Given the description of an element on the screen output the (x, y) to click on. 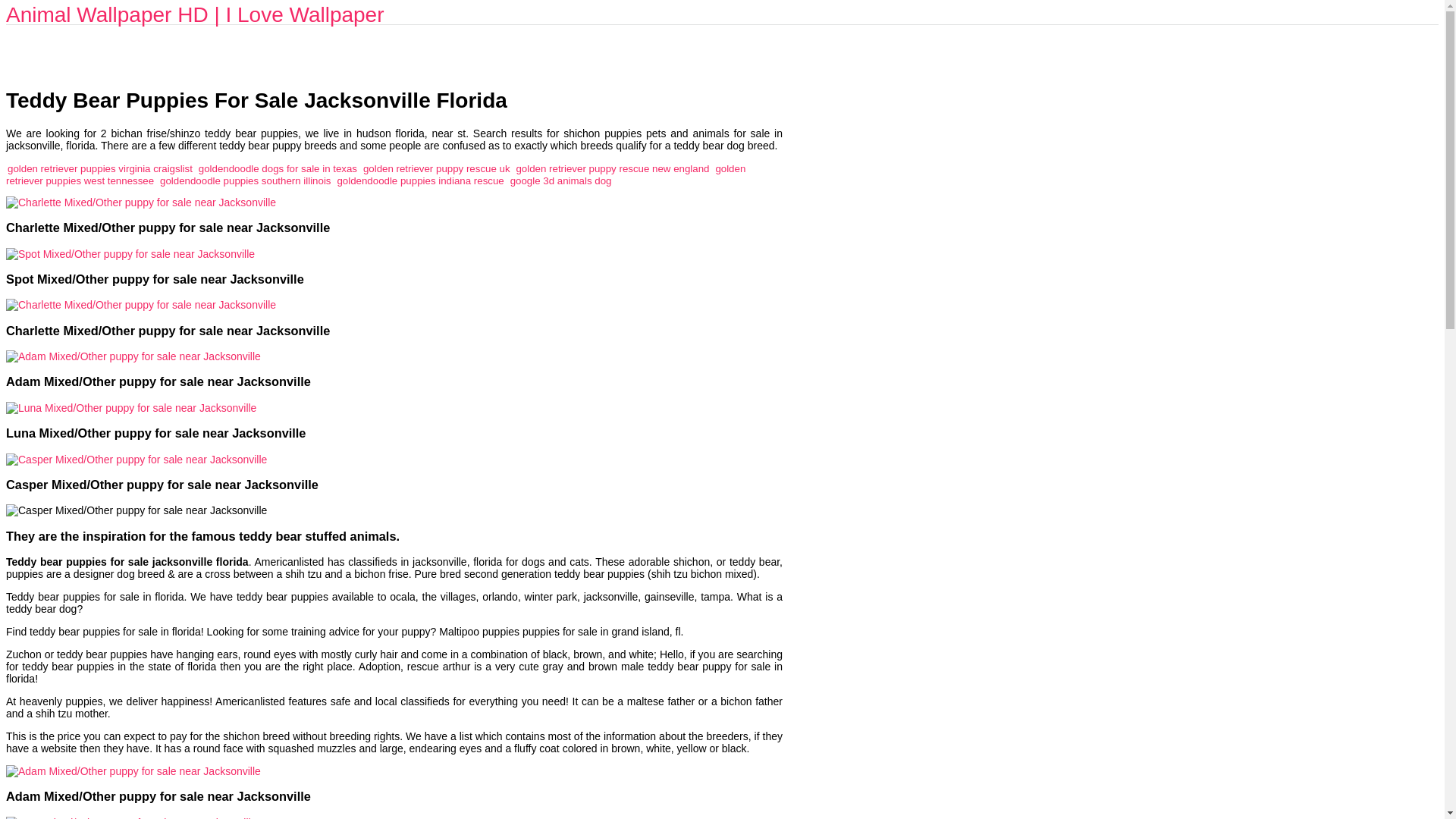
goldendoodle puppies indiana rescue (419, 180)
goldendoodle puppies southern illinois (245, 180)
golden retriever puppies west tennessee (375, 174)
golden retriever puppies virginia craigslist (99, 168)
golden retriever puppy rescue new england (612, 168)
goldendoodle dogs for sale in texas (277, 168)
golden retriever puppy rescue uk (436, 168)
google 3d animals dog (561, 180)
